Given the description of an element on the screen output the (x, y) to click on. 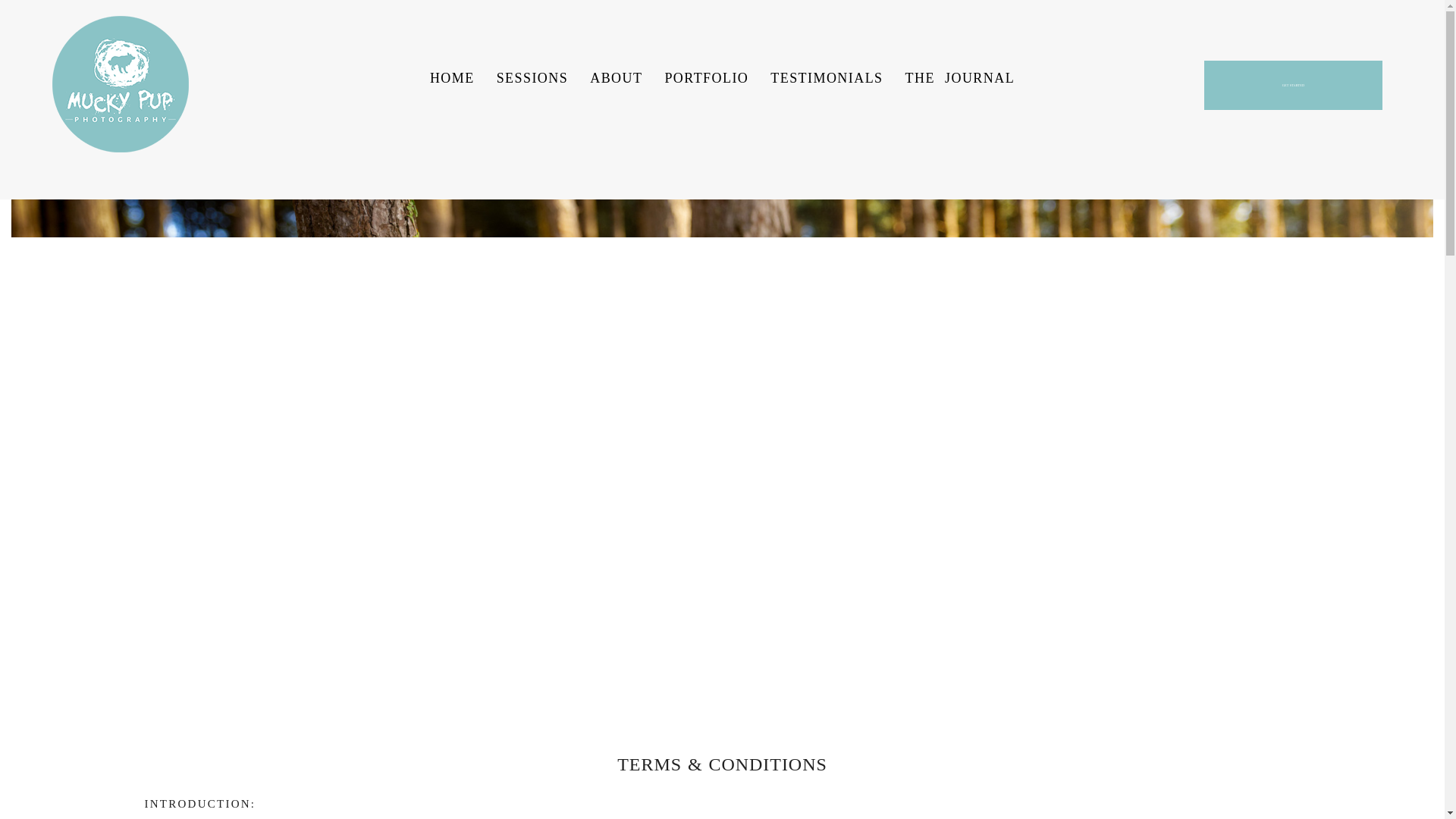
THE JOURNAL (959, 77)
SESSIONS (532, 77)
ABOUT (615, 77)
GET STARTED (1292, 84)
HOME (451, 77)
PORTFOLIO (705, 77)
TESTIMONIALS (826, 77)
